Given the description of an element on the screen output the (x, y) to click on. 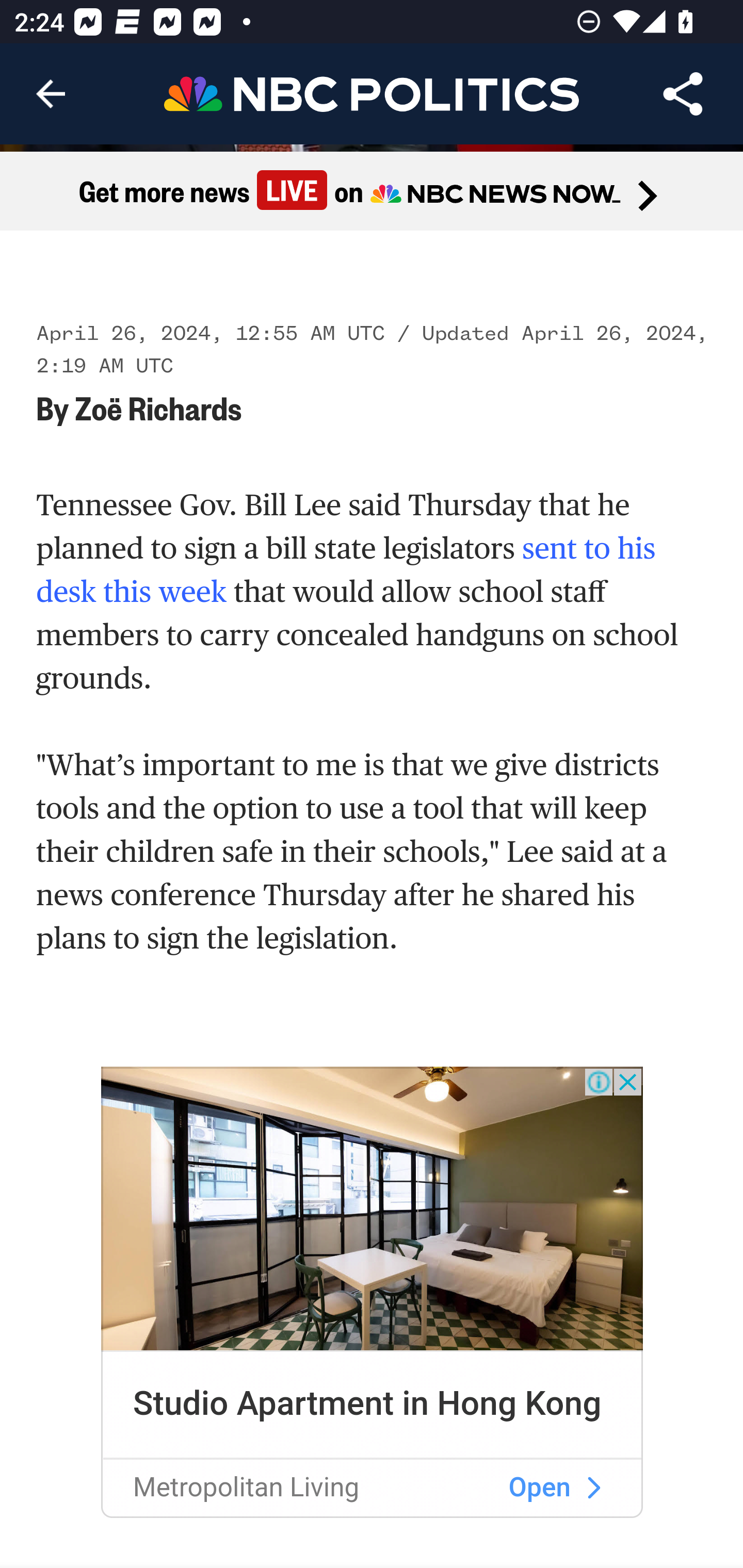
Navigate up (50, 93)
Share Article, button (683, 94)
Header, NBC Politics (371, 93)
Get more news Live on Get more news Live on (371, 192)
sent to his desk this week (346, 571)
apartments-inner2 (372, 1208)
Studio Apartment in Hong Kong (367, 1403)
Metropolitan Living (246, 1487)
Open (539, 1487)
apartments-inner2 (593, 1488)
